Given the description of an element on the screen output the (x, y) to click on. 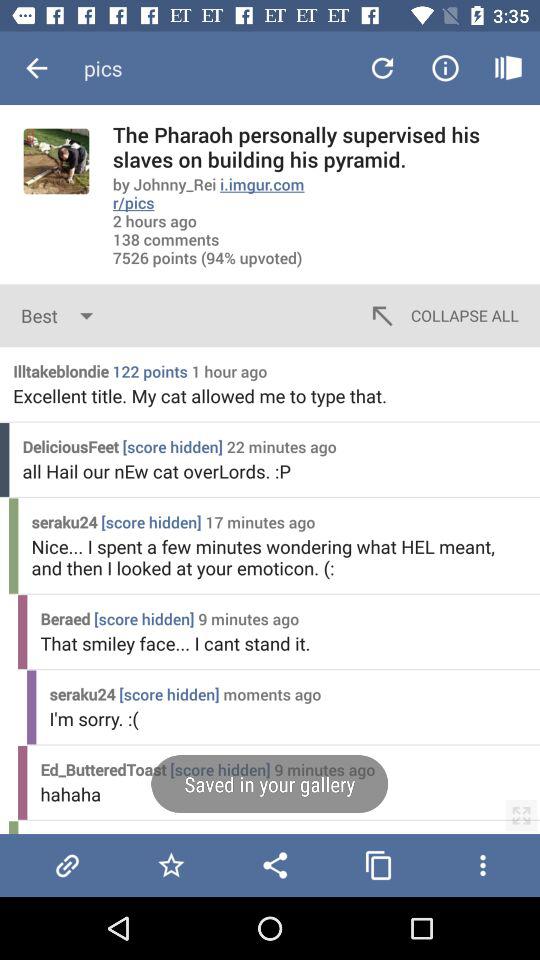
open sharing options (275, 865)
